Given the description of an element on the screen output the (x, y) to click on. 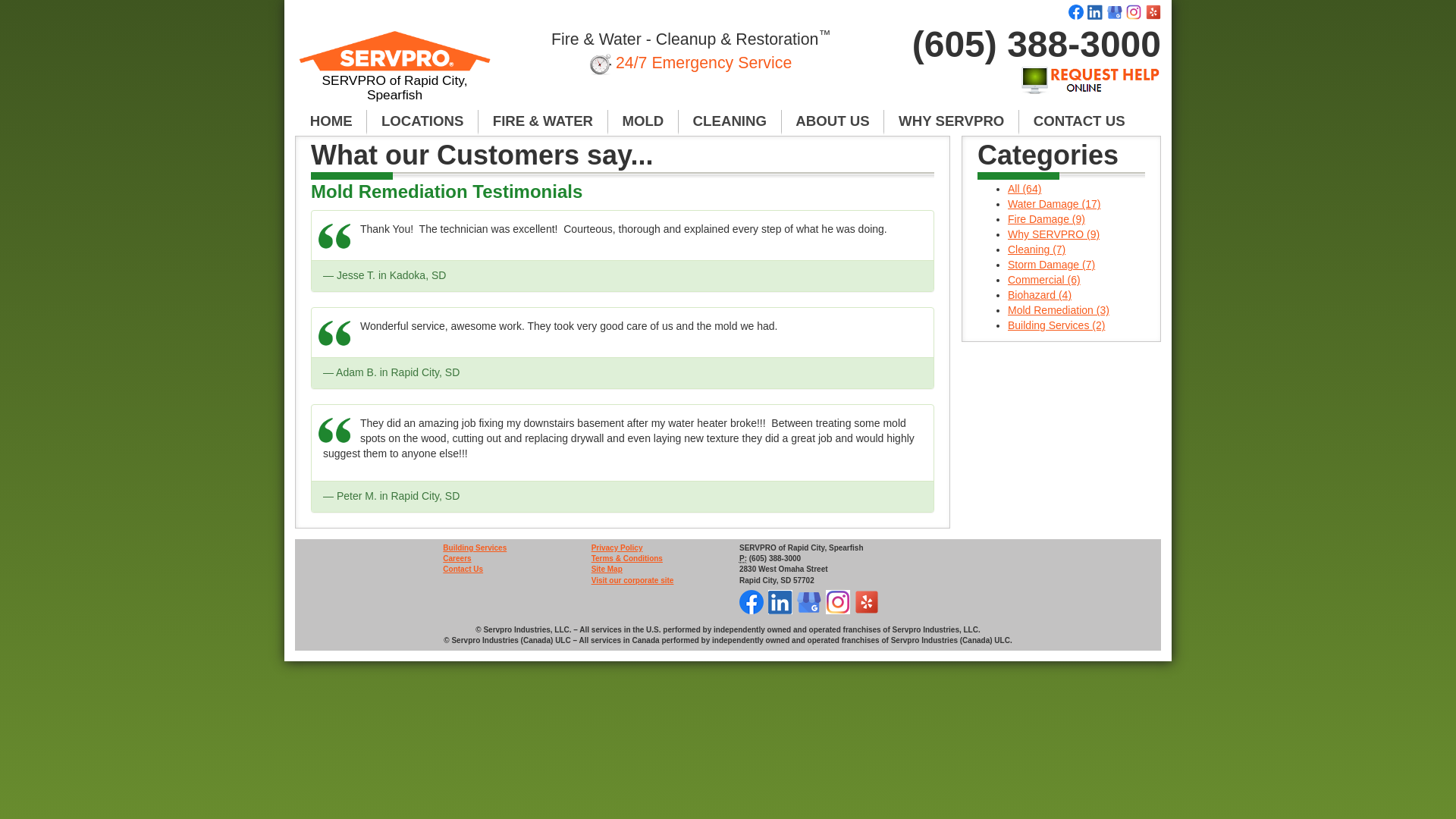
MOLD (643, 121)
LOCATIONS (422, 121)
SERVPRO of Rapid City, Spearfish (395, 72)
CLEANING (729, 121)
HOME (330, 121)
